Given the description of an element on the screen output the (x, y) to click on. 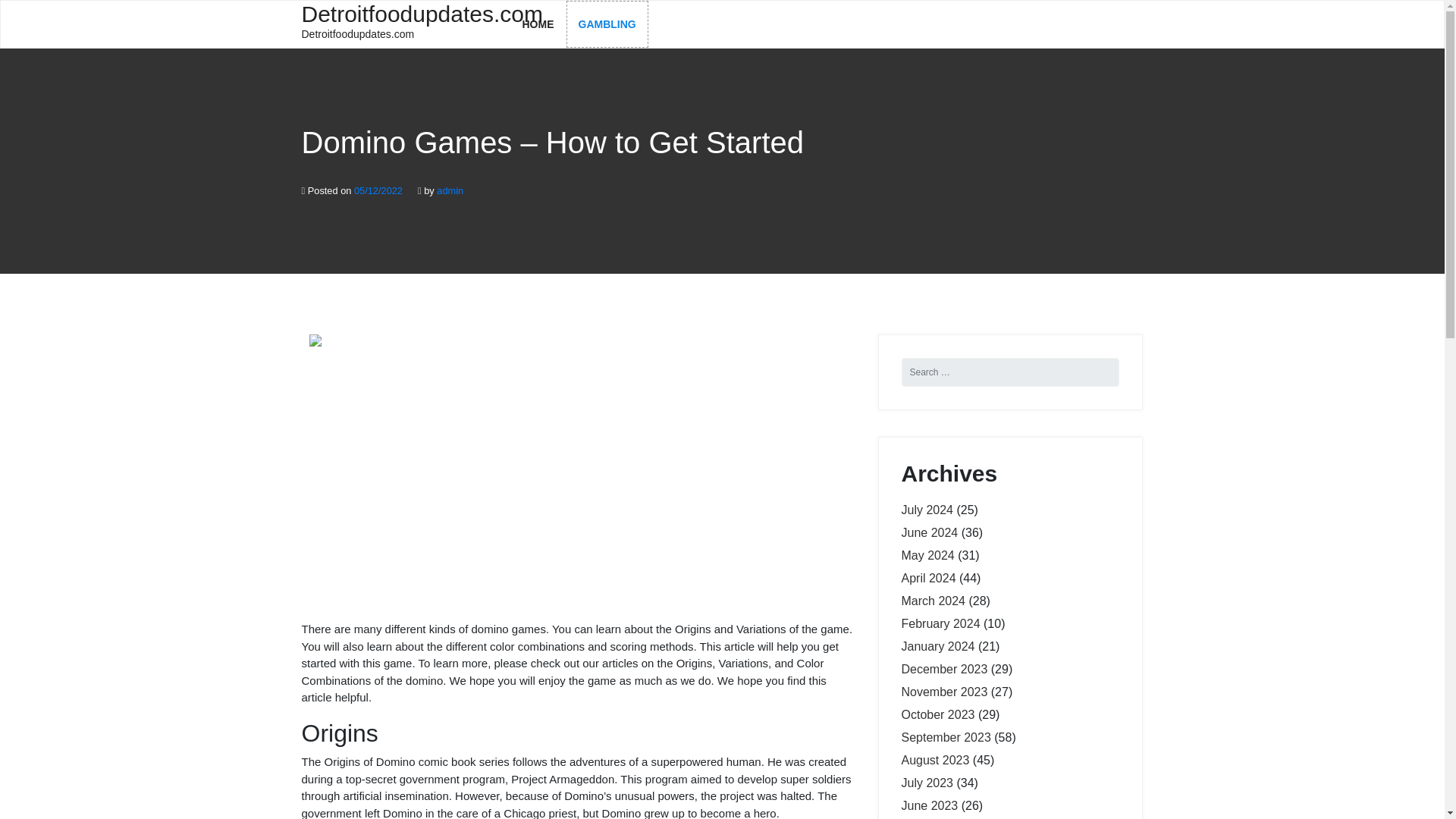
June 2024 (400, 22)
May 2024 (929, 532)
July 2024 (927, 554)
September 2023 (927, 509)
March 2024 (945, 737)
August 2023 (933, 600)
July 2023 (935, 759)
October 2023 (927, 782)
December 2023 (937, 714)
HOME (944, 668)
February 2024 (537, 23)
GAMBLING (940, 623)
April 2024 (606, 23)
January 2024 (928, 577)
